Given the description of an element on the screen output the (x, y) to click on. 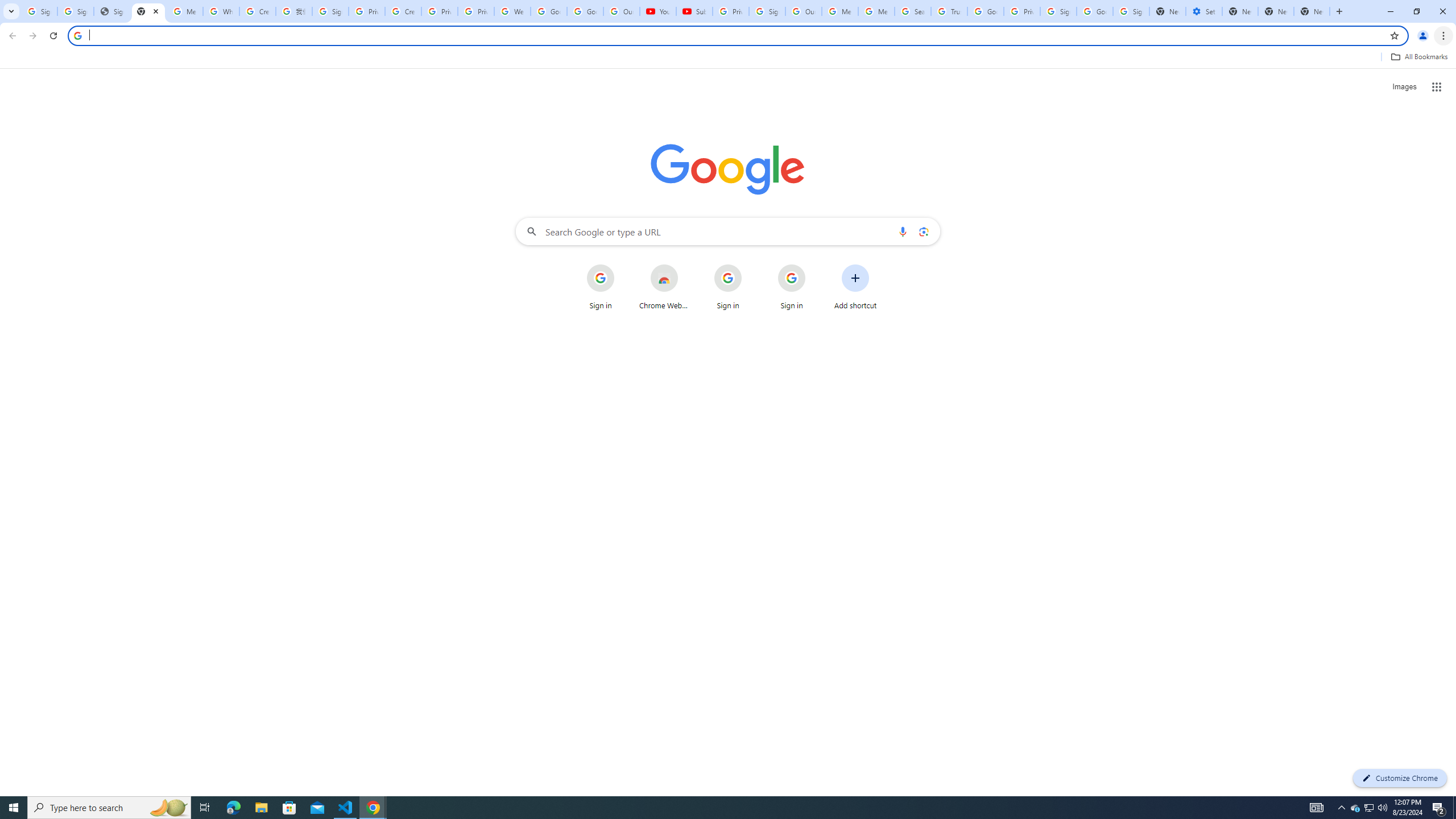
Bookmarks (728, 58)
Google apps (1436, 86)
Restore (1416, 11)
New Tab (1338, 11)
Search our Doodle Library Collection - Google Doodles (912, 11)
Close (155, 11)
Settings - Performance (1203, 11)
New Tab (1311, 11)
Sign In - USA TODAY (111, 11)
Chrome (1445, 35)
Trusted Information and Content - Google Safety Center (949, 11)
Google Ads - Sign in (985, 11)
